Given the description of an element on the screen output the (x, y) to click on. 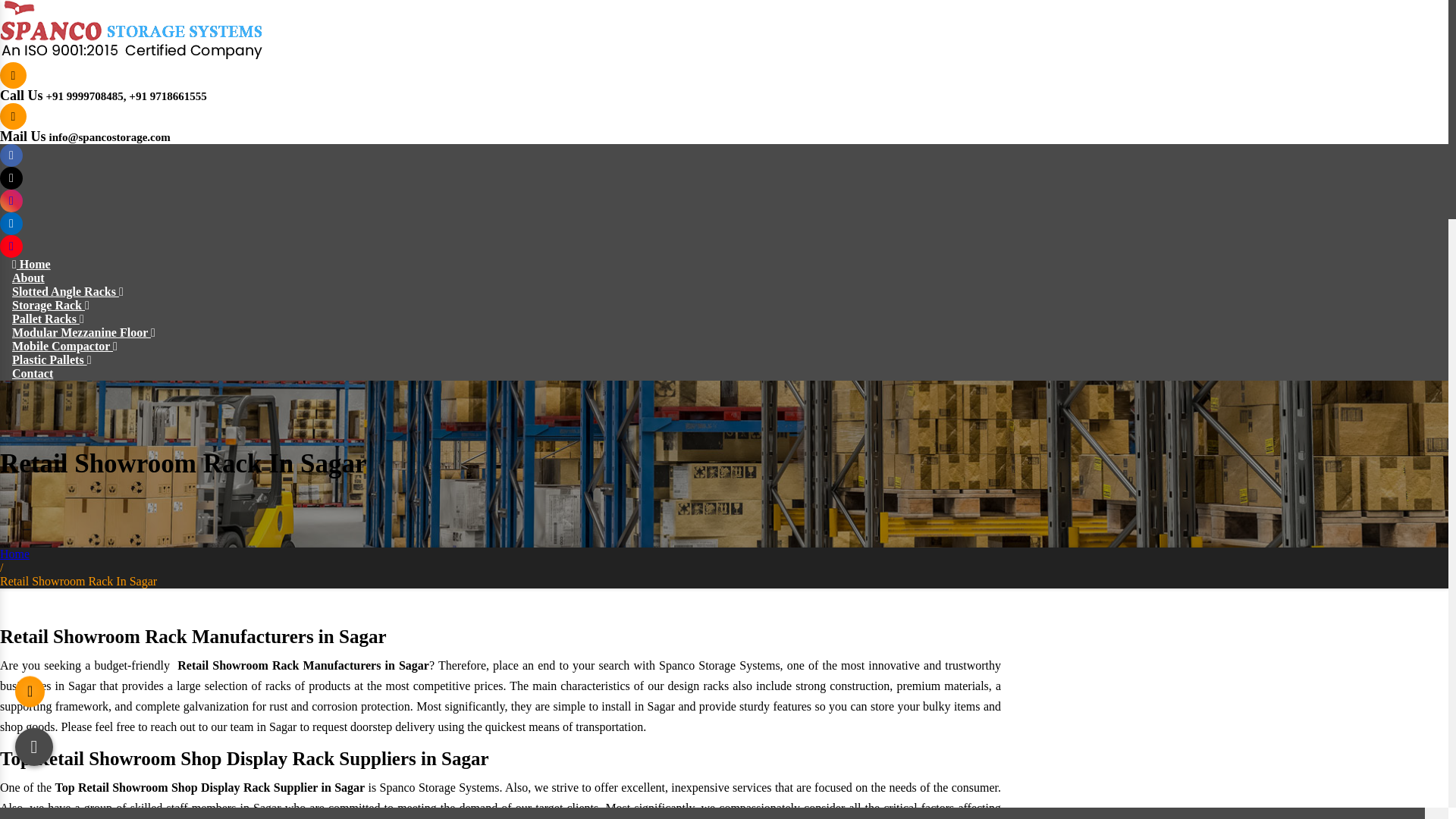
Twitter (11, 177)
Linkedin (11, 223)
About (28, 277)
Instagram (11, 200)
Youtube (11, 245)
Facebook (11, 154)
Spanco Storage Systems (131, 29)
Home (30, 264)
Slotted Angle Racks (67, 291)
Slotted Angle Racks (67, 291)
Storage Rack (49, 305)
